Given the description of an element on the screen output the (x, y) to click on. 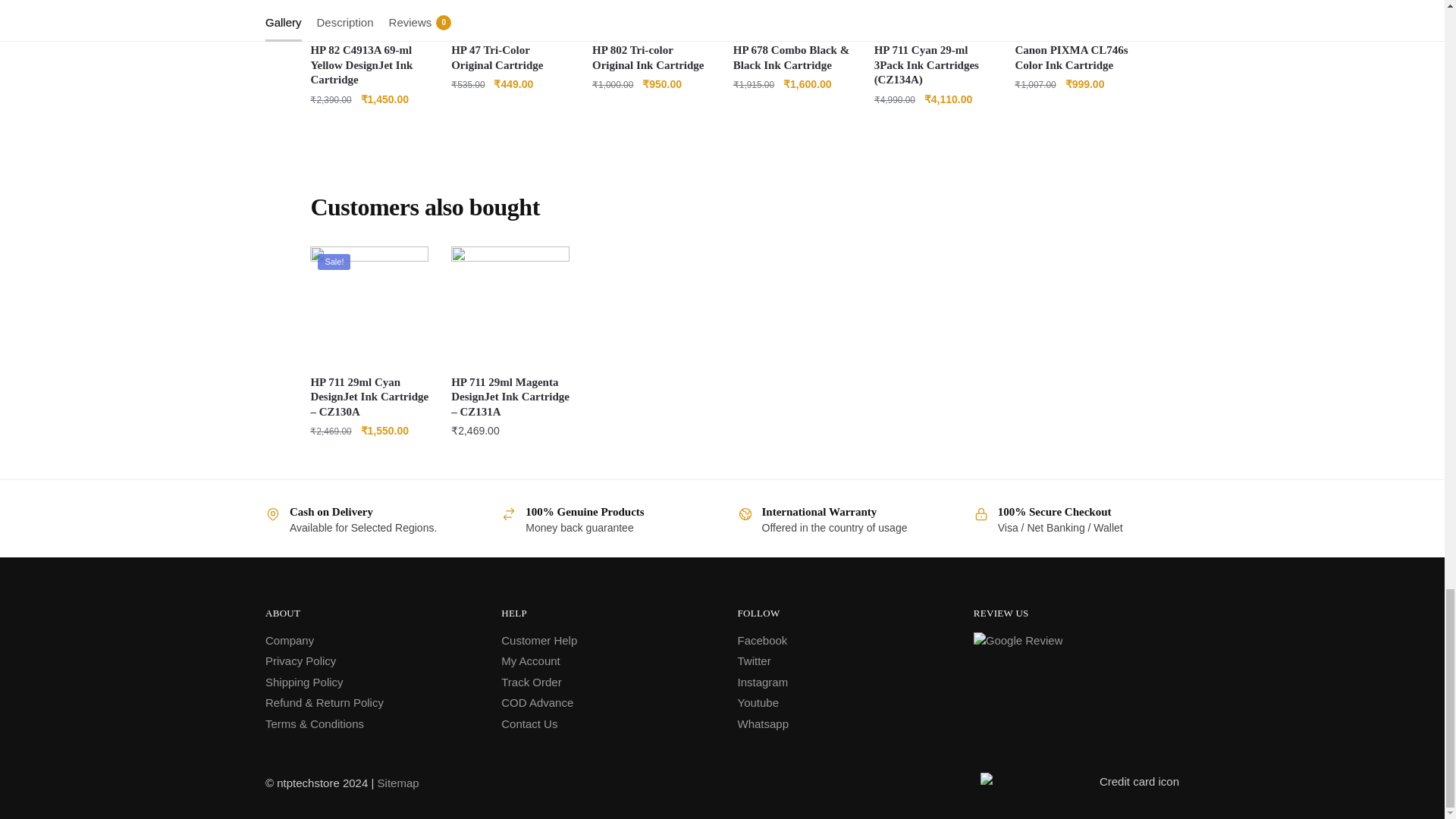
Credit Card (1079, 783)
HP 47 Tri-Color Original Cartridge (510, 16)
HP 82 C4913A 69-ml Yellow DesignJet Ink Cartridge (369, 16)
HP 802 Tri-color Original Ink Cartridge (651, 16)
Canon PIXMA CL746s Color Ink Cartridge (1073, 16)
